Given the description of an element on the screen output the (x, y) to click on. 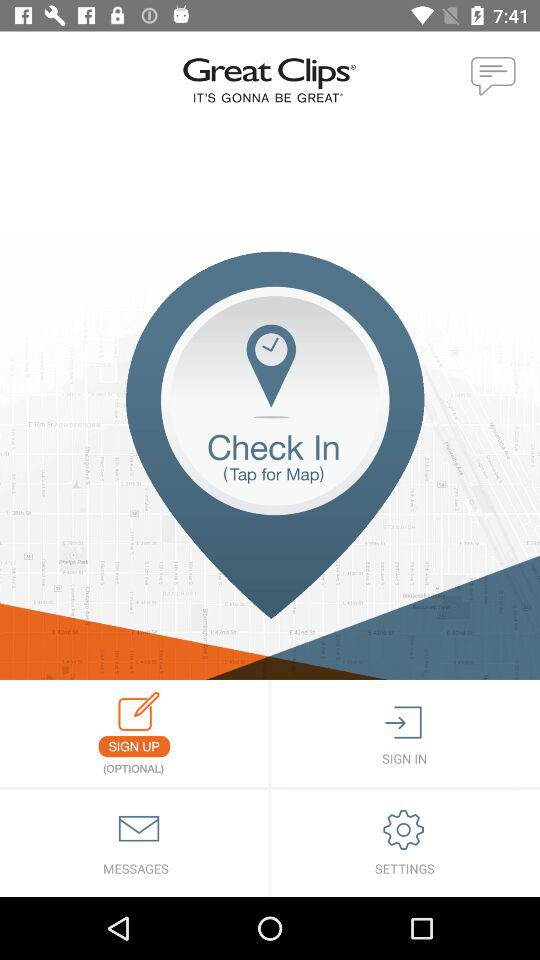
opens map (269, 465)
